Given the description of an element on the screen output the (x, y) to click on. 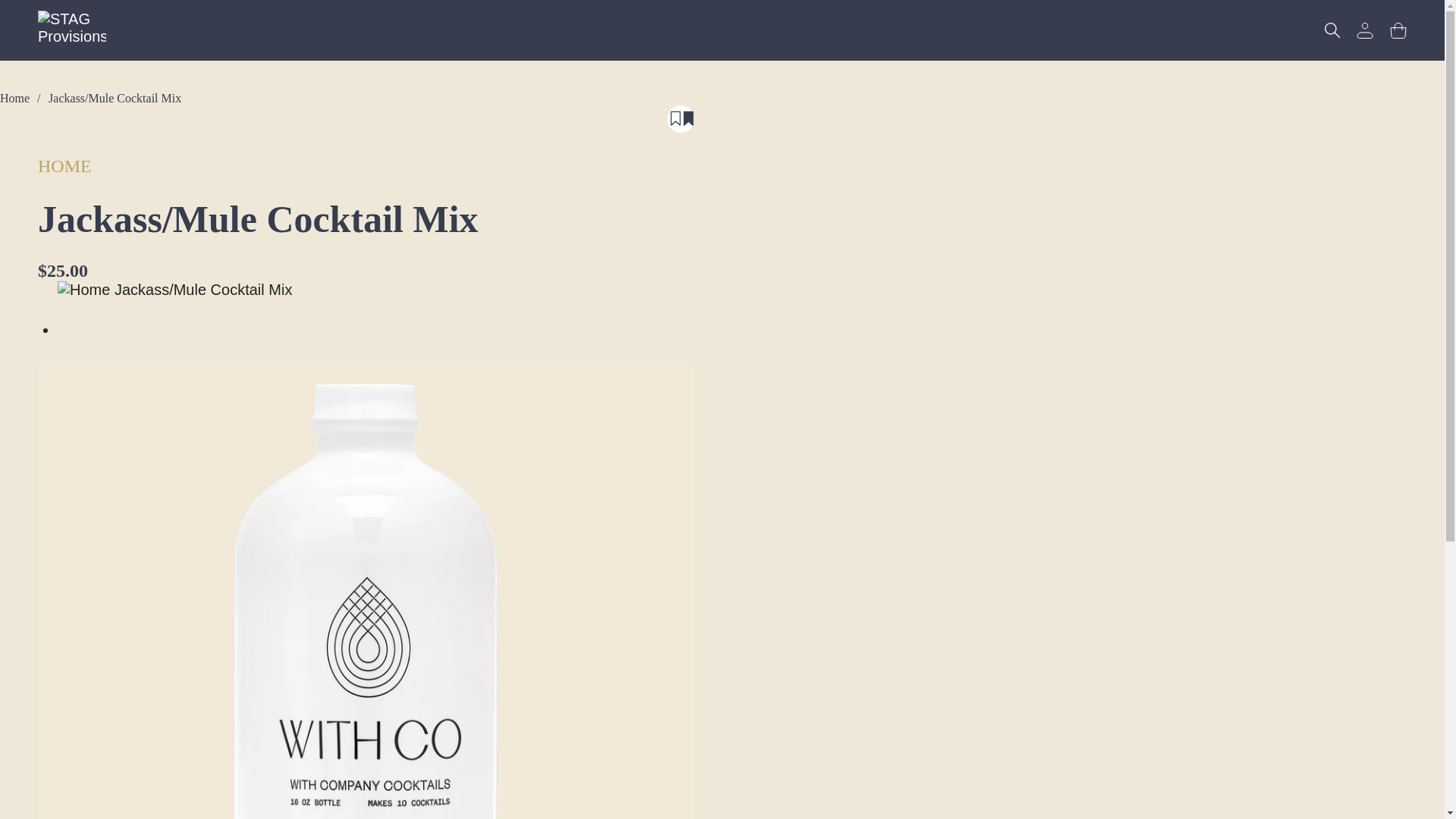
Cart (1398, 30)
Account (1364, 30)
My Account (1364, 30)
Search (1332, 30)
